Given the description of an element on the screen output the (x, y) to click on. 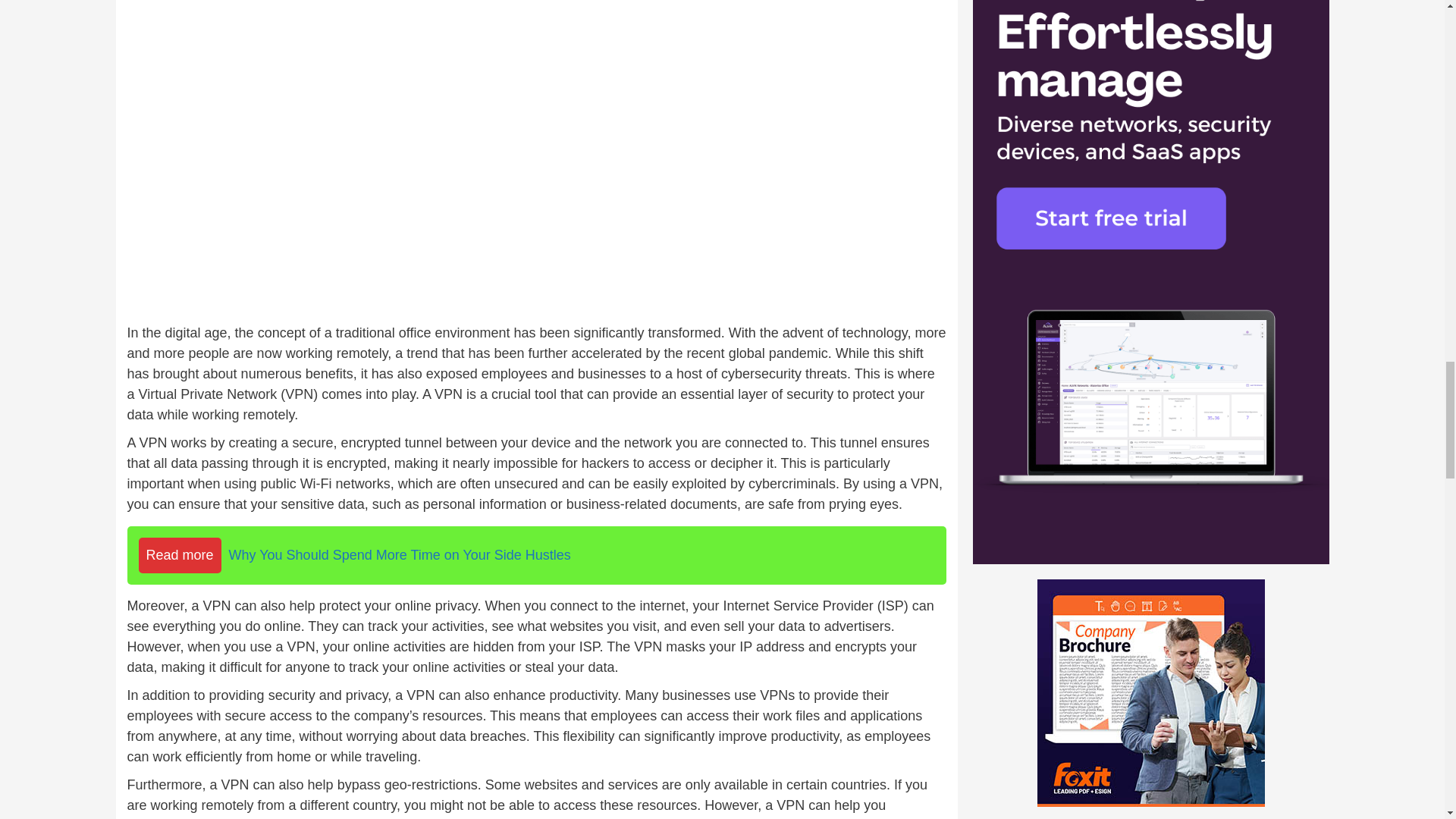
Read moreWhy You Should Spend More Time on Your Side Hustles (537, 555)
